Given the description of an element on the screen output the (x, y) to click on. 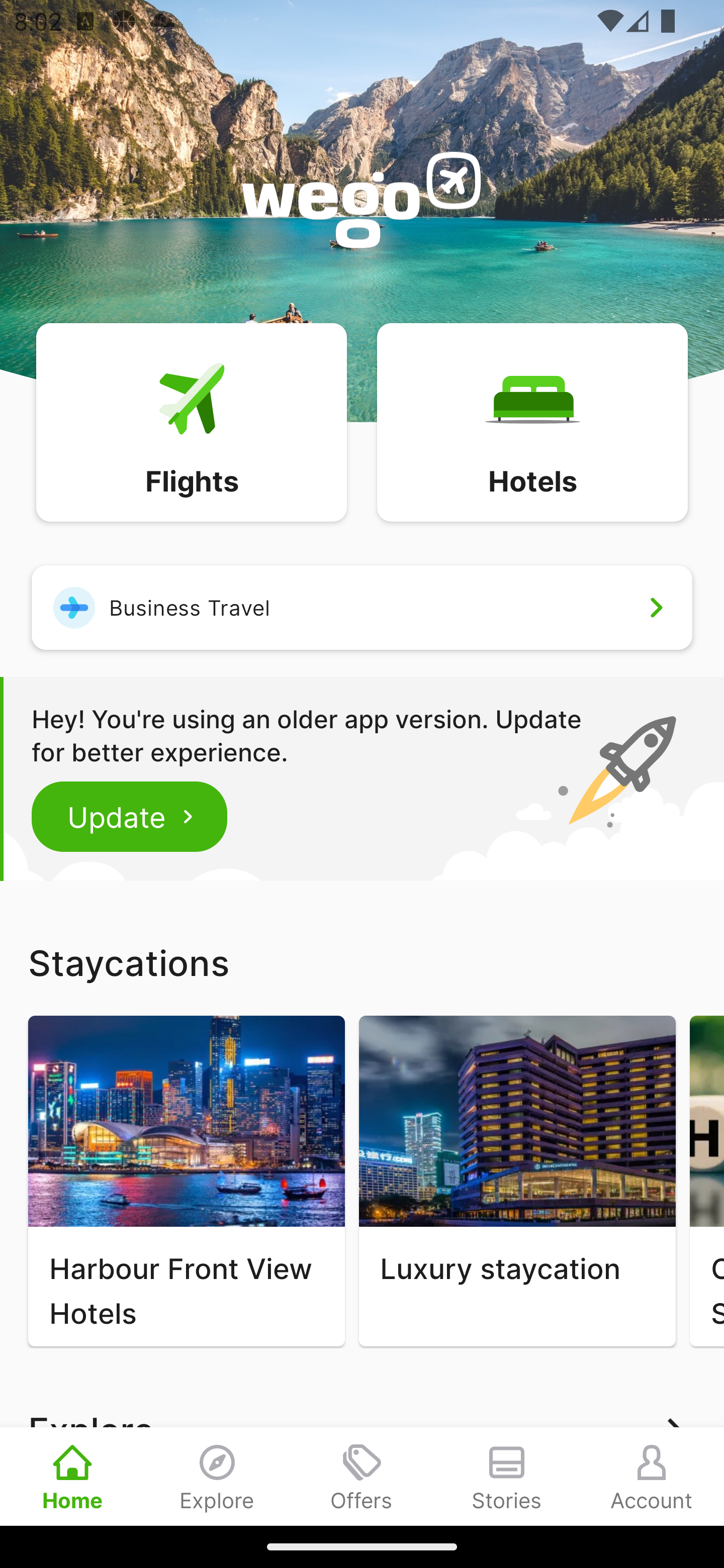
Flights (191, 420)
Hotels (532, 420)
Business Travel (361, 607)
Update (129, 815)
Staycations (362, 962)
Harbour Front View Hotels (186, 1181)
Luxury staycation (517, 1181)
Explore (216, 1475)
Offers (361, 1475)
Stories (506, 1475)
Account (651, 1475)
